Given the description of an element on the screen output the (x, y) to click on. 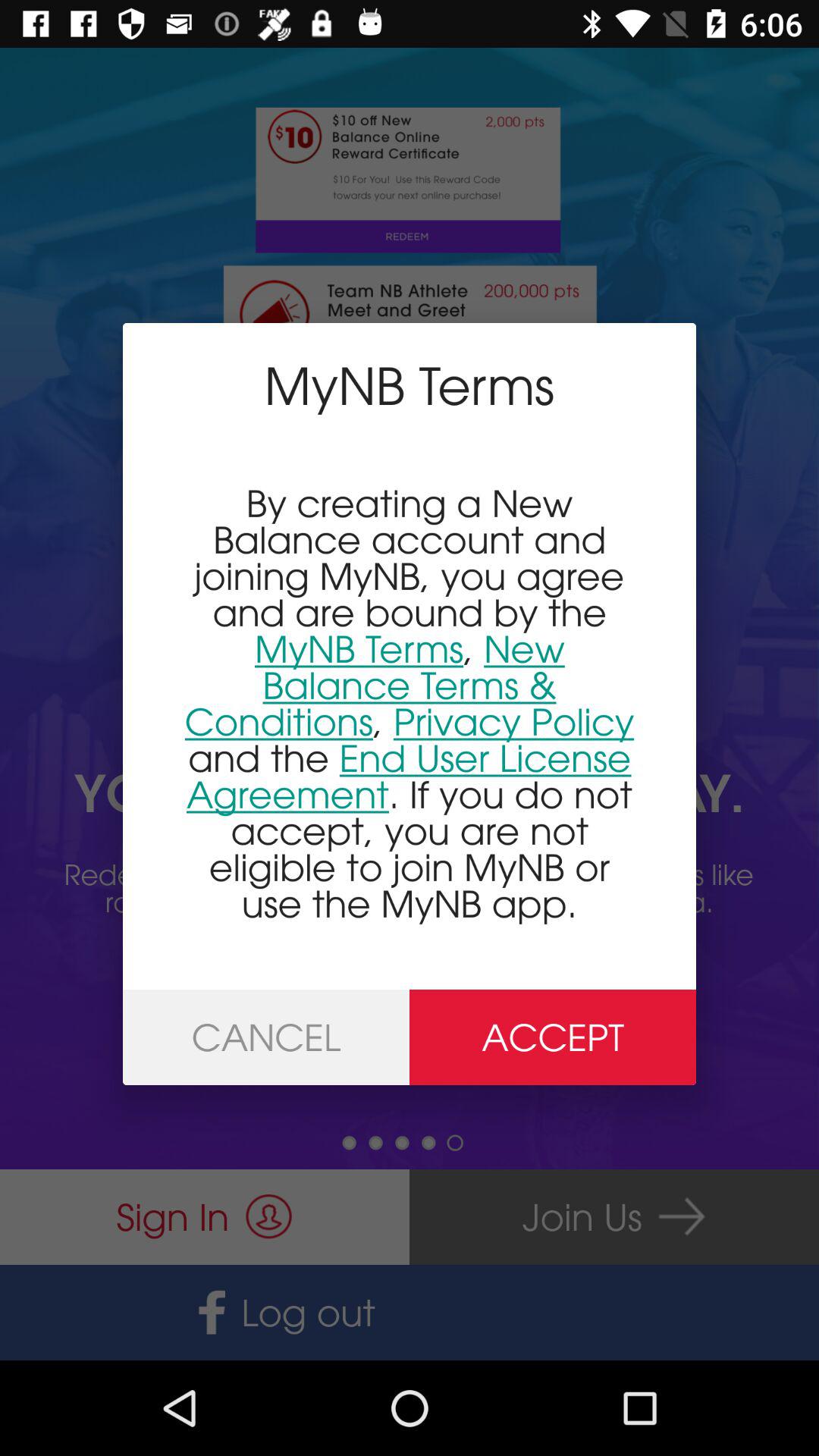
turn off the icon at the bottom right corner (552, 1037)
